Given the description of an element on the screen output the (x, y) to click on. 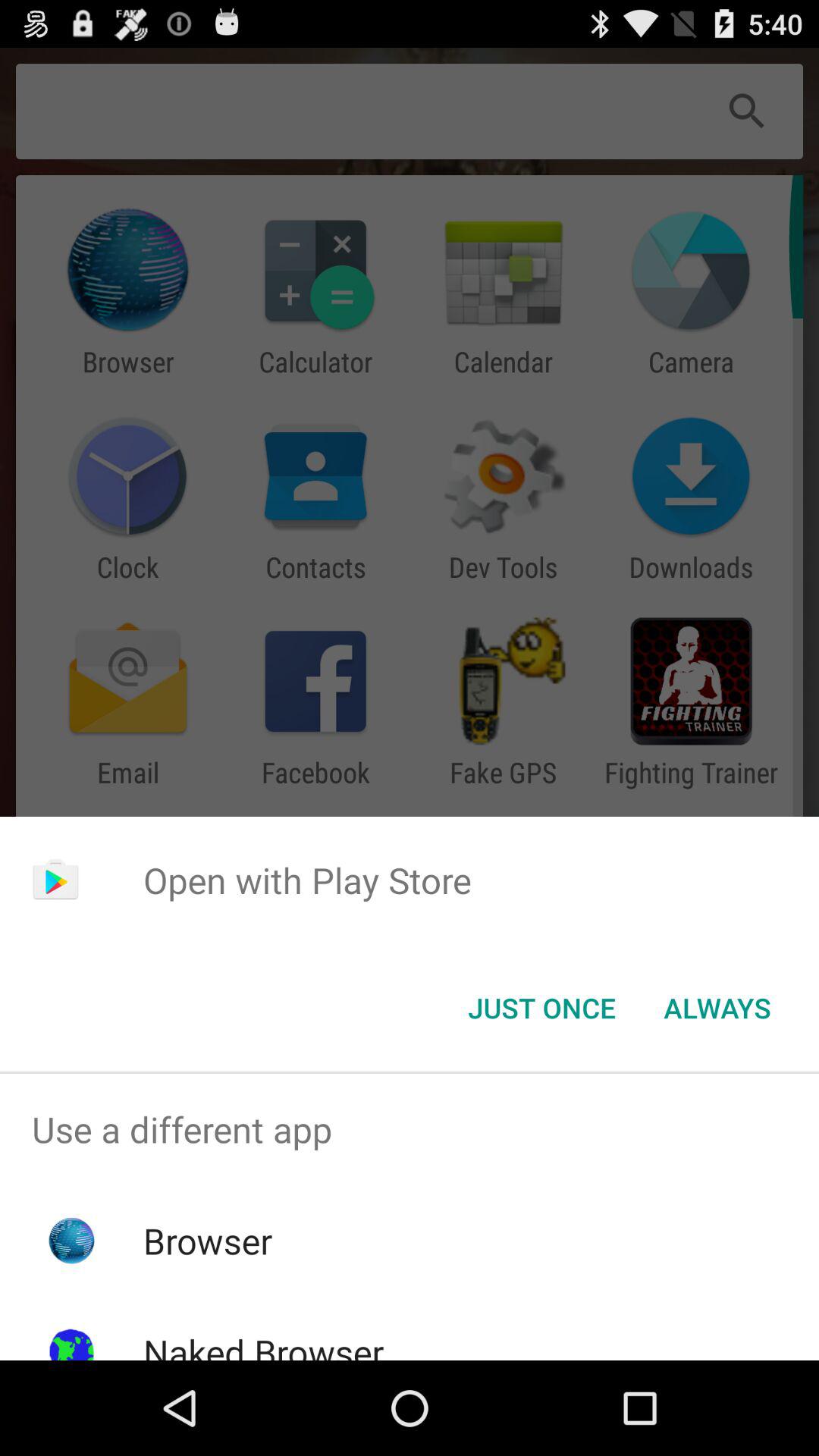
tap the naked browser (263, 1344)
